Given the description of an element on the screen output the (x, y) to click on. 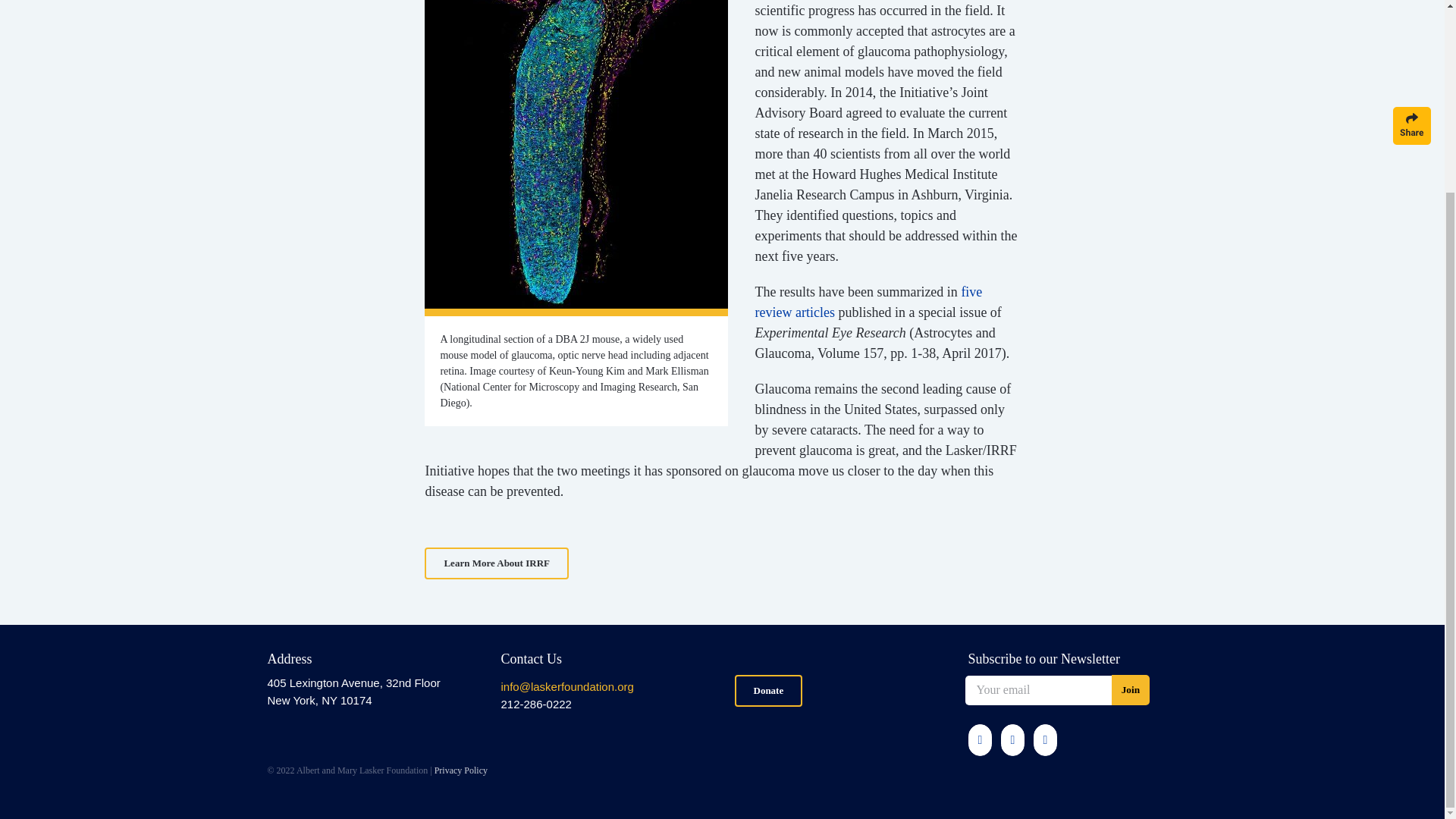
Join (1131, 689)
Your email (1036, 690)
